Given the description of an element on the screen output the (x, y) to click on. 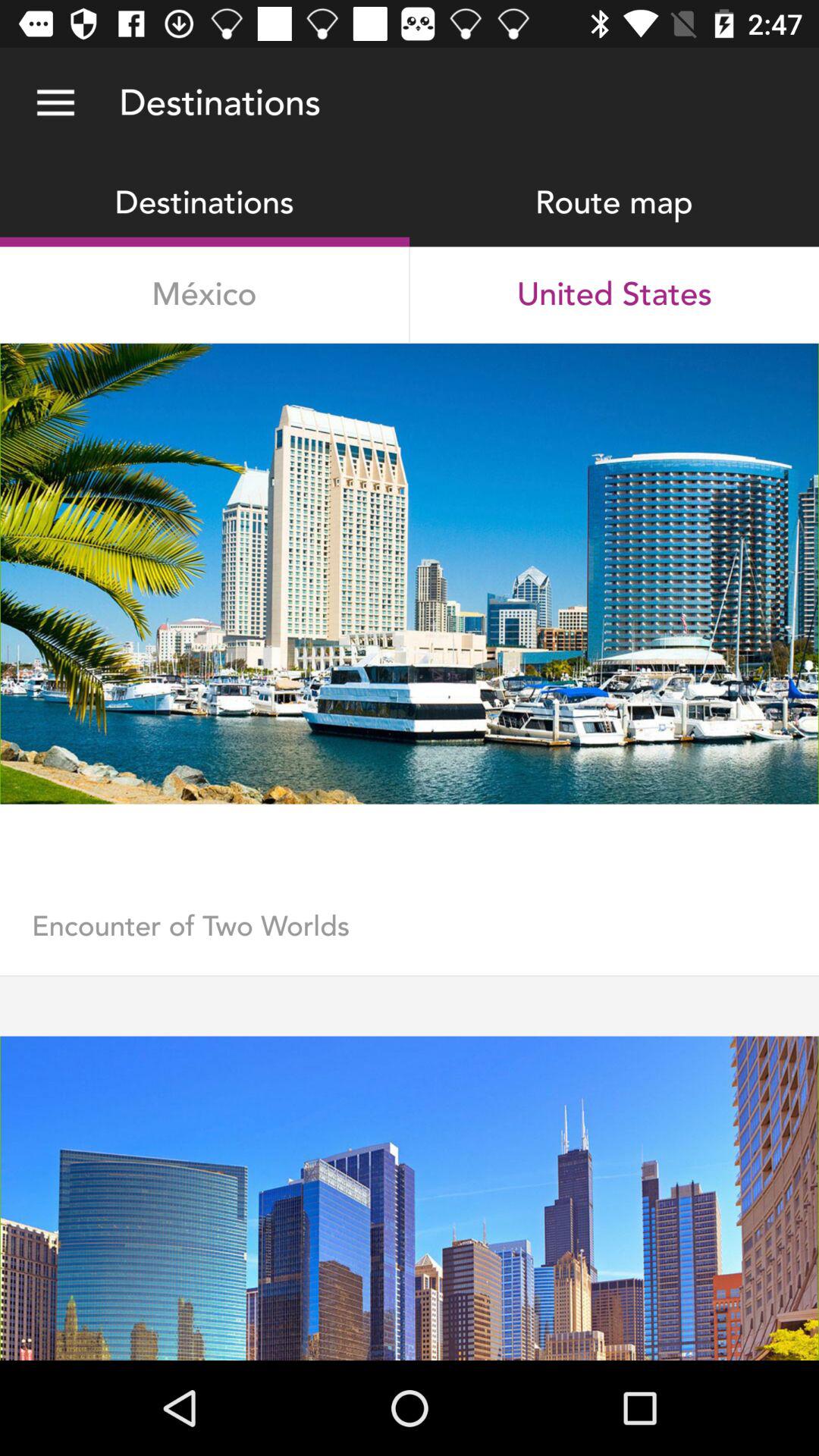
select item below the encounter of two (409, 975)
